Given the description of an element on the screen output the (x, y) to click on. 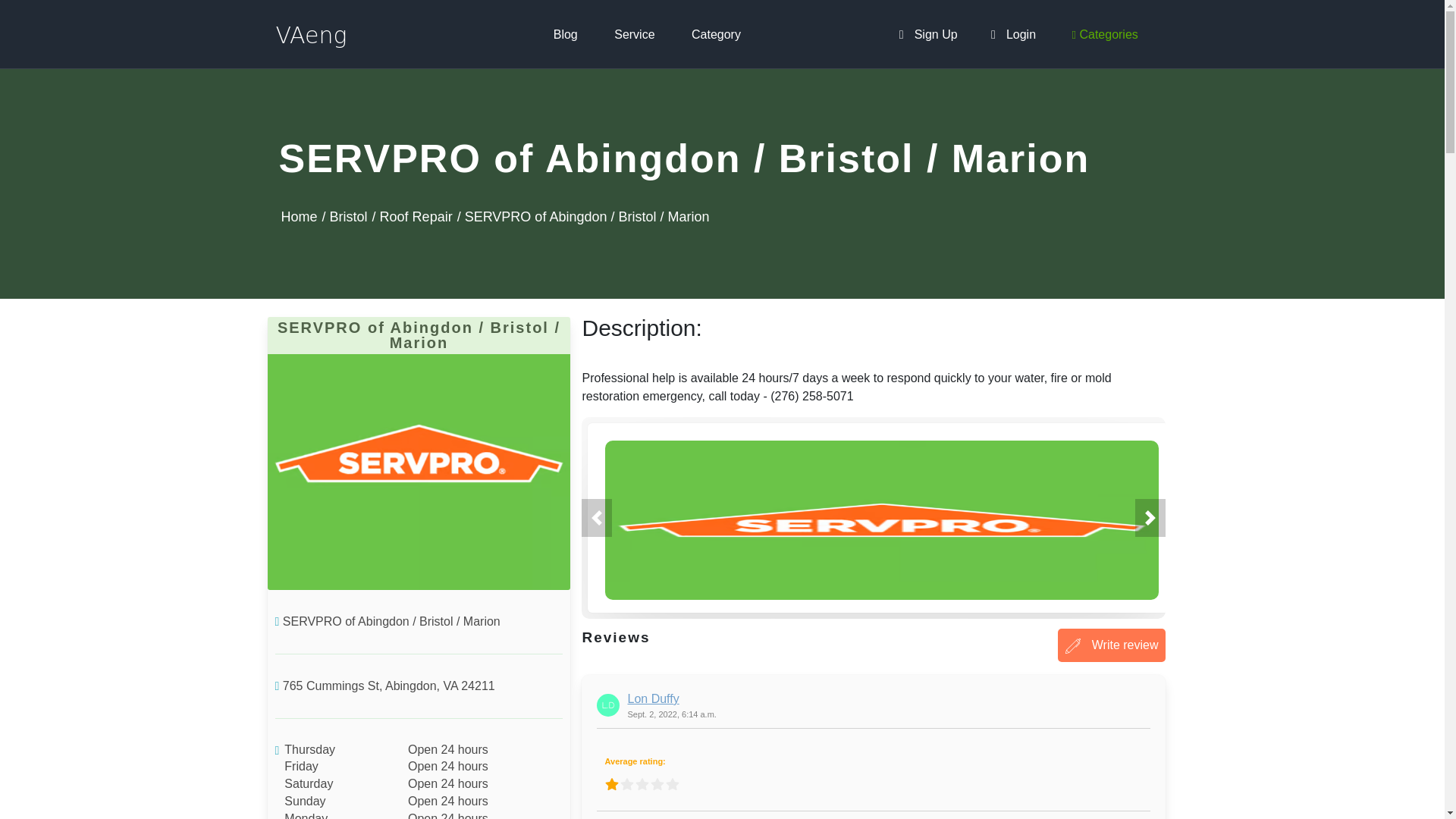
VAeng (314, 33)
